Given the description of an element on the screen output the (x, y) to click on. 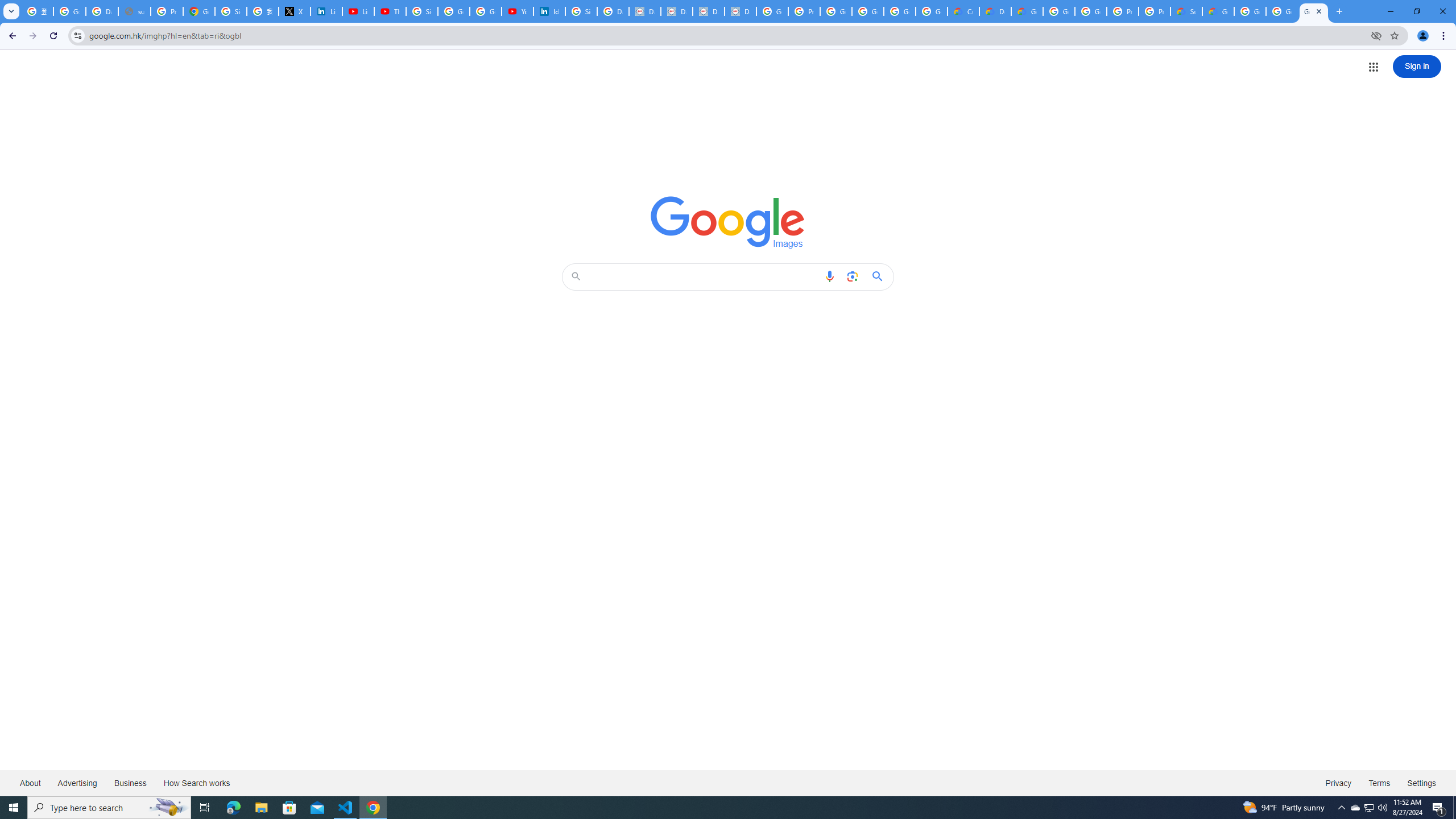
LinkedIn - YouTube (358, 11)
Google Search (880, 276)
How Search works (196, 782)
Sign in - Google Accounts (421, 11)
